Given the description of an element on the screen output the (x, y) to click on. 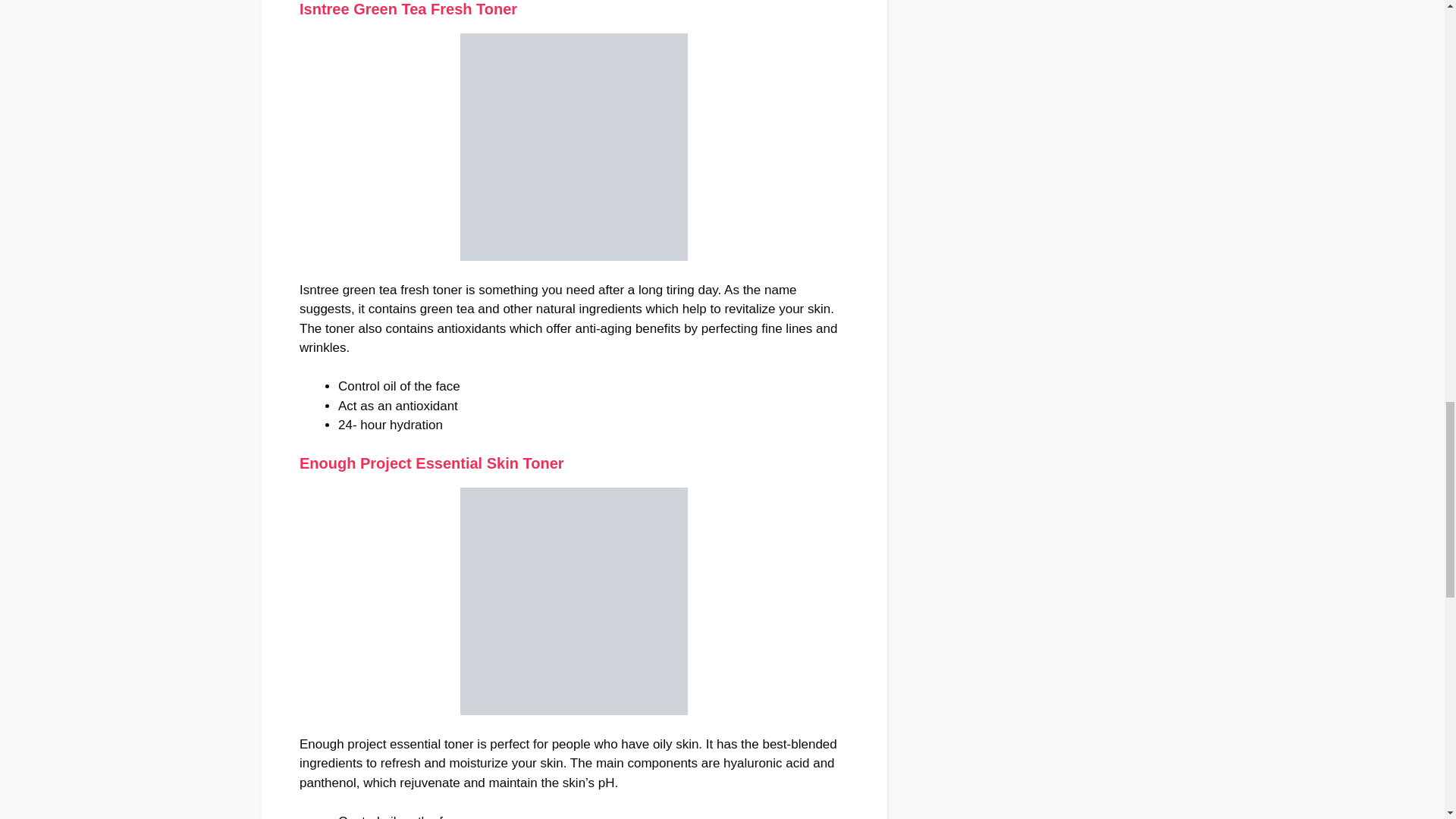
Isntree Green Tea Fresh Toner (407, 8)
Enough Project Essential Skin Toner (431, 463)
